Given the description of an element on the screen output the (x, y) to click on. 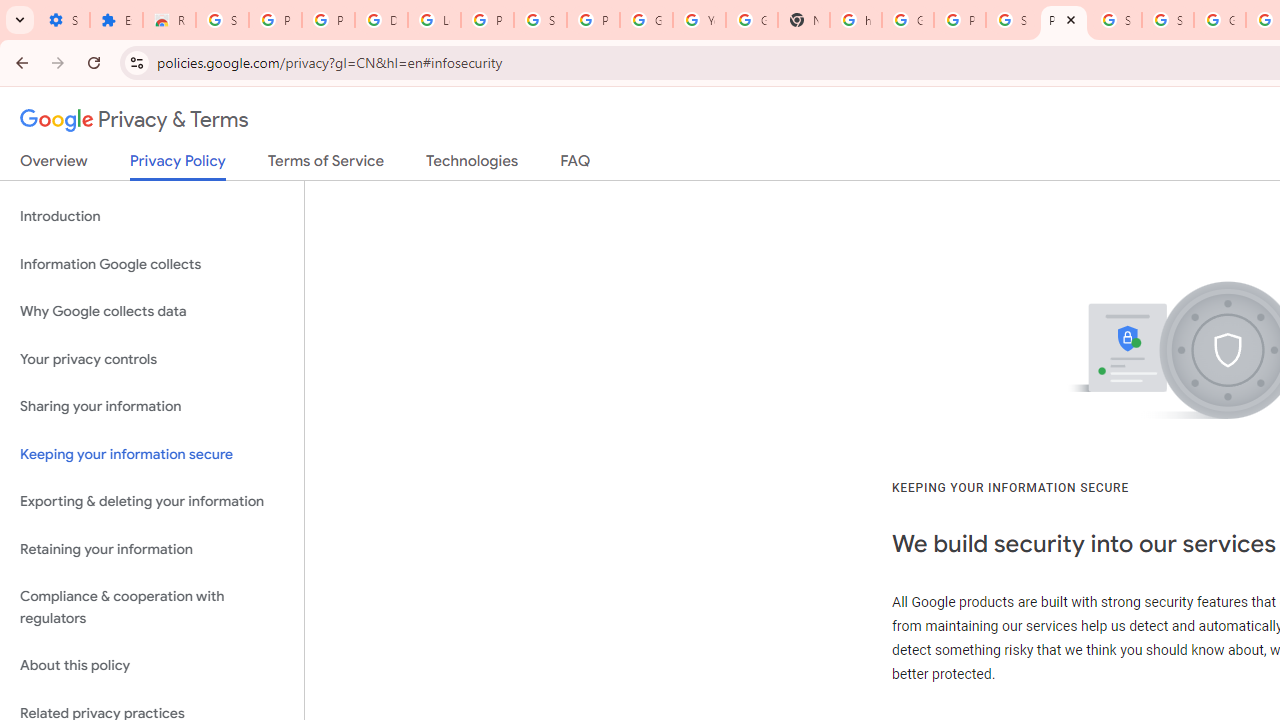
New Tab (803, 20)
Sign in - Google Accounts (1167, 20)
